Given the description of an element on the screen output the (x, y) to click on. 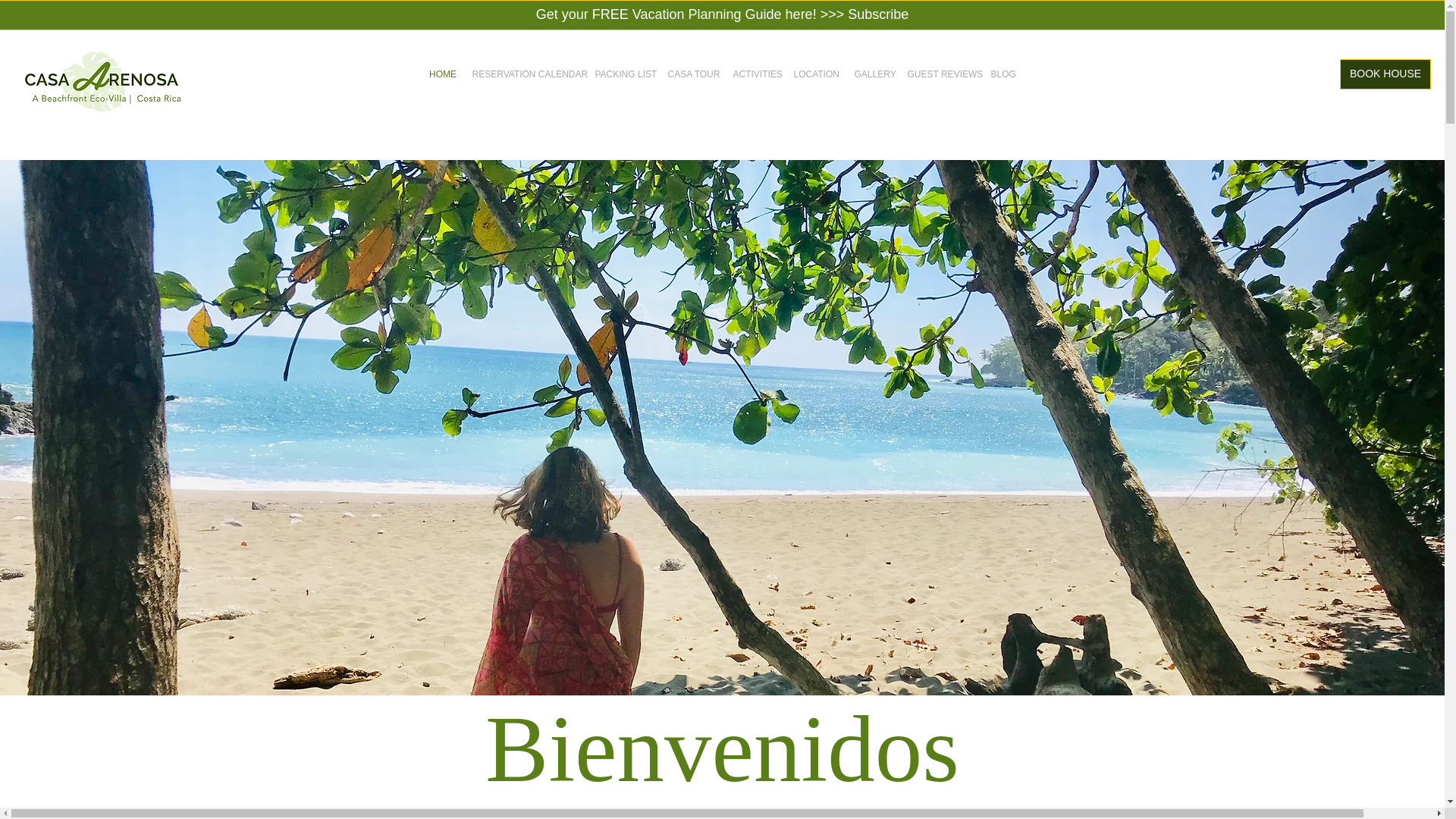
BLOG (1002, 74)
LOCATION (815, 74)
CASA TOUR (692, 74)
RESERVATION CALENDAR (525, 74)
GUEST REVIEWS (940, 74)
HOME (443, 74)
ACTIVITIES (755, 74)
GALLERY (872, 74)
PACKING LIST (622, 74)
